Given the description of an element on the screen output the (x, y) to click on. 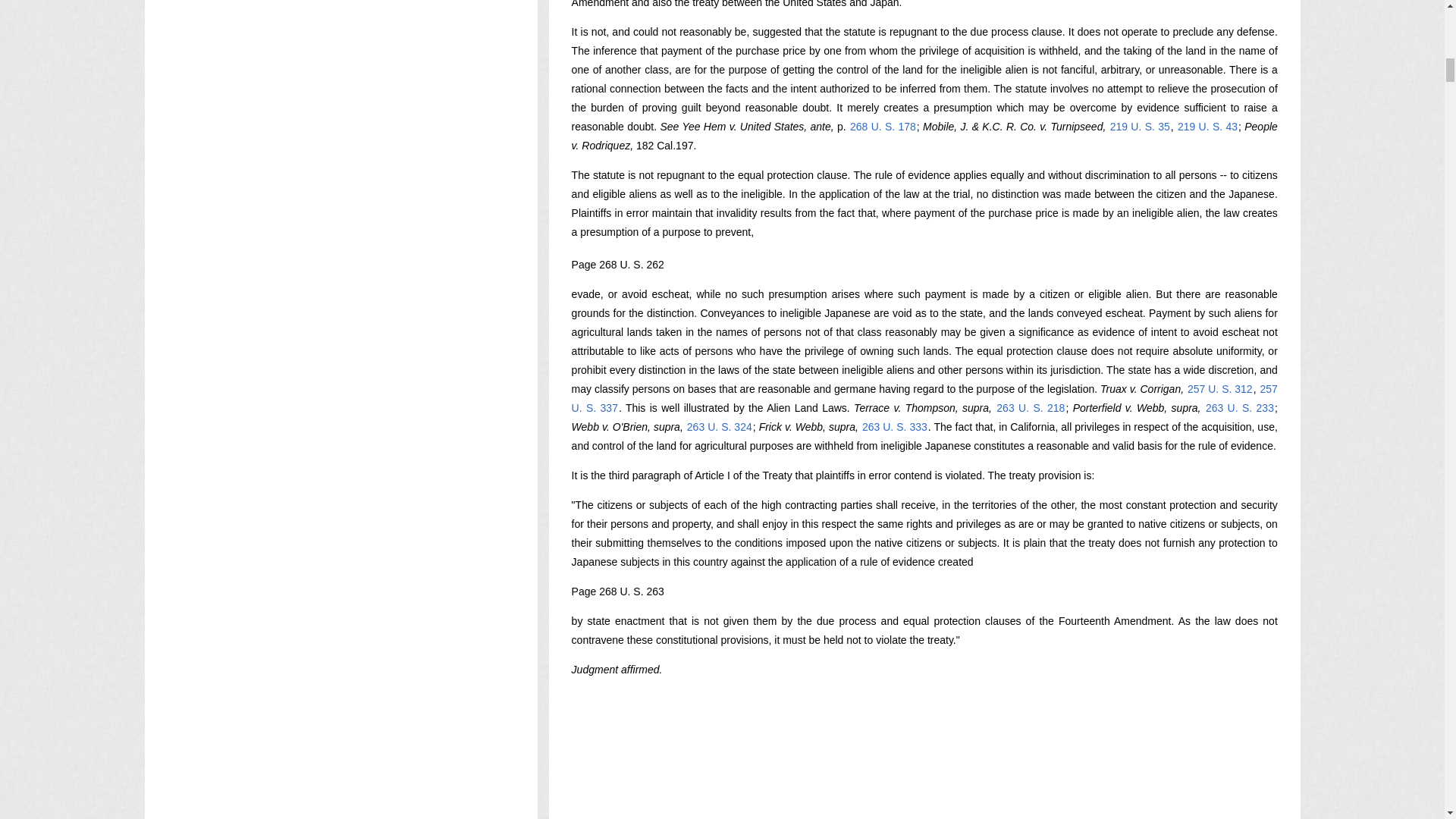
268 U. S. 178 (882, 126)
Page 268 U. S. 262 (617, 264)
263 U. S. 218 (1030, 408)
263 U. S. 333 (894, 426)
263 U. S. 324 (718, 426)
Advertisement (848, 792)
Page 268 U. S. 263 (617, 591)
